Given the description of an element on the screen output the (x, y) to click on. 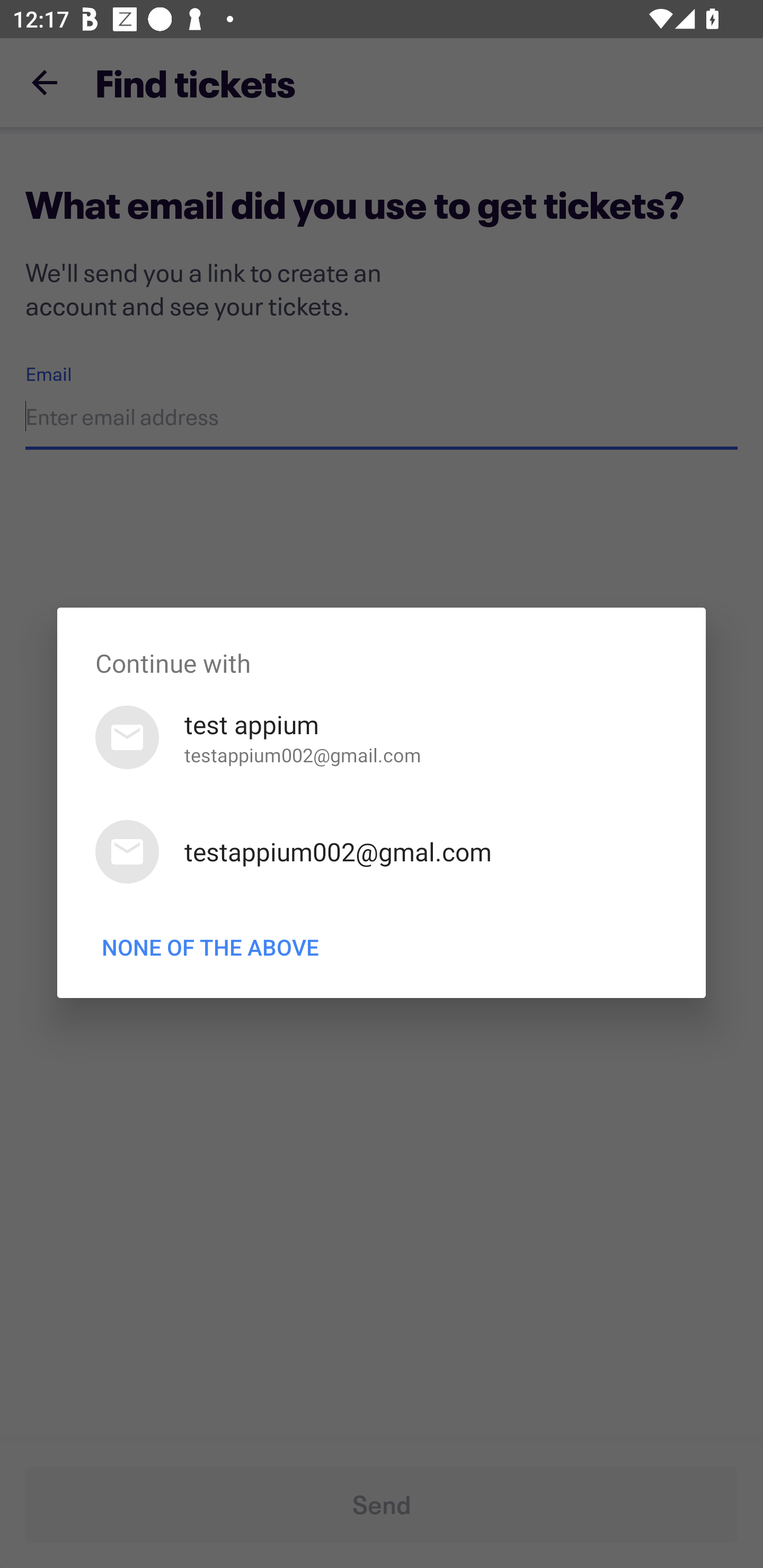
test appium test appium testappium002@gmail.com (381, 737)
testappium002@gmal.com (381, 851)
NONE OF THE ABOVE (210, 946)
